Given the description of an element on the screen output the (x, y) to click on. 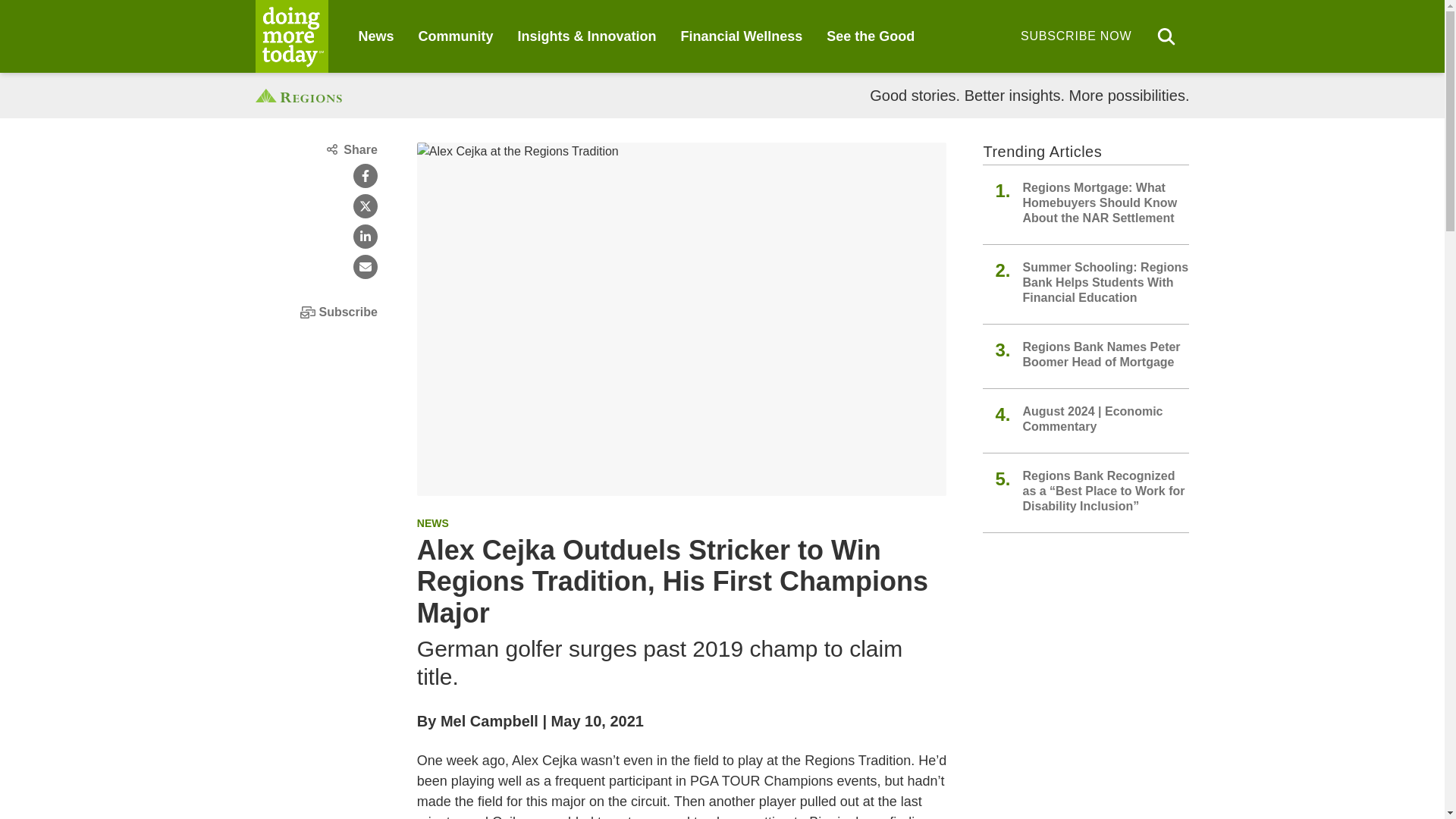
See the Good (870, 35)
Share on X (365, 206)
News (375, 35)
Share on Facebook (365, 175)
Share via Email (365, 266)
Financial Wellness (742, 35)
Community (456, 35)
NEWS (432, 522)
Share on LinkedIn (365, 236)
